Given the description of an element on the screen output the (x, y) to click on. 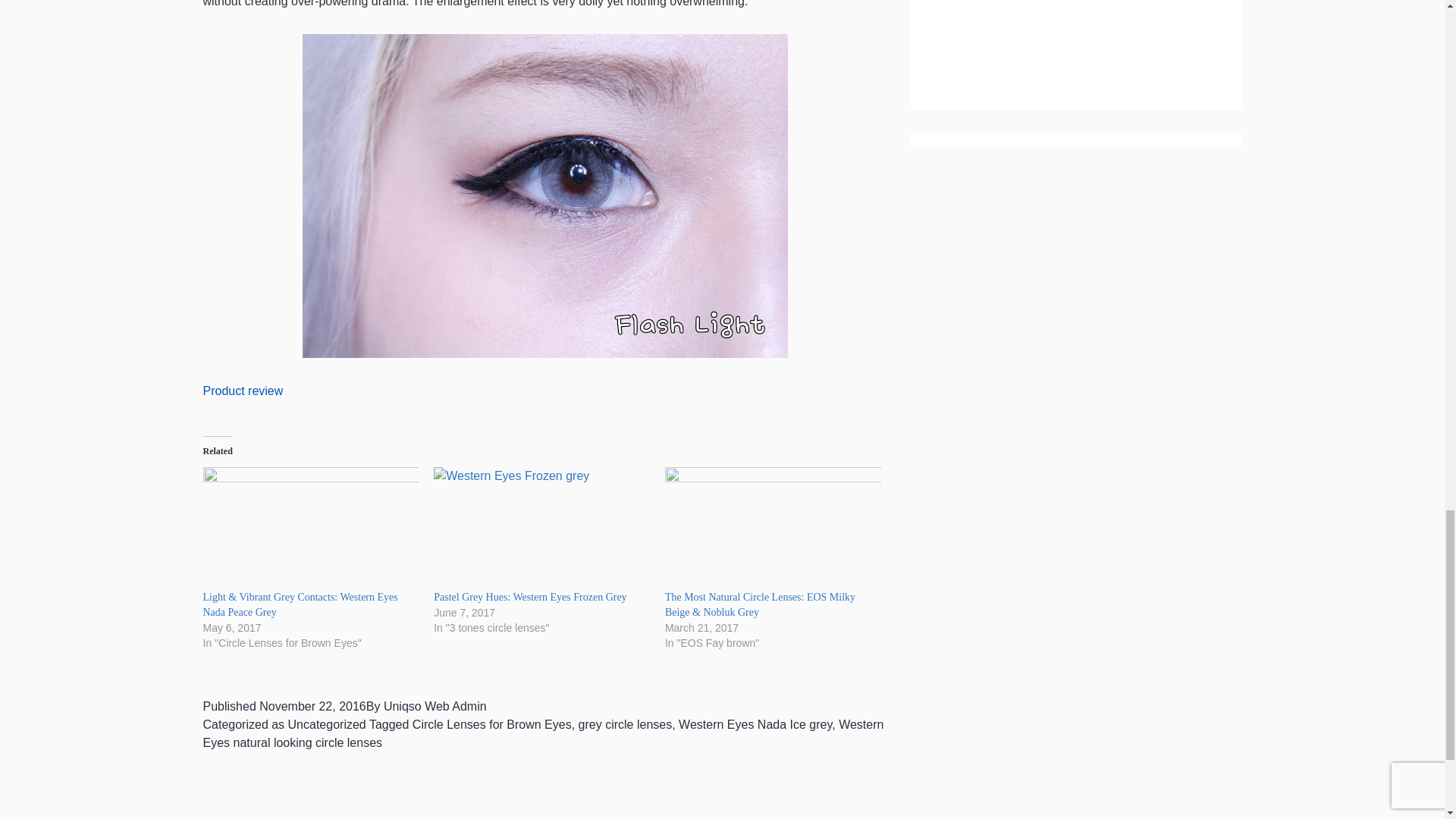
Circle Lenses for Brown Eyes (492, 724)
grey circle lenses (625, 724)
Pastel Grey Hues: Western Eyes Frozen Grey (529, 596)
Pastel Grey Hues: Western Eyes Frozen Grey (541, 528)
Uncategorized (327, 724)
Uniqso Web Admin (435, 706)
Pastel Grey Hues: Western Eyes Frozen Grey (529, 596)
Product review (243, 390)
